Given the description of an element on the screen output the (x, y) to click on. 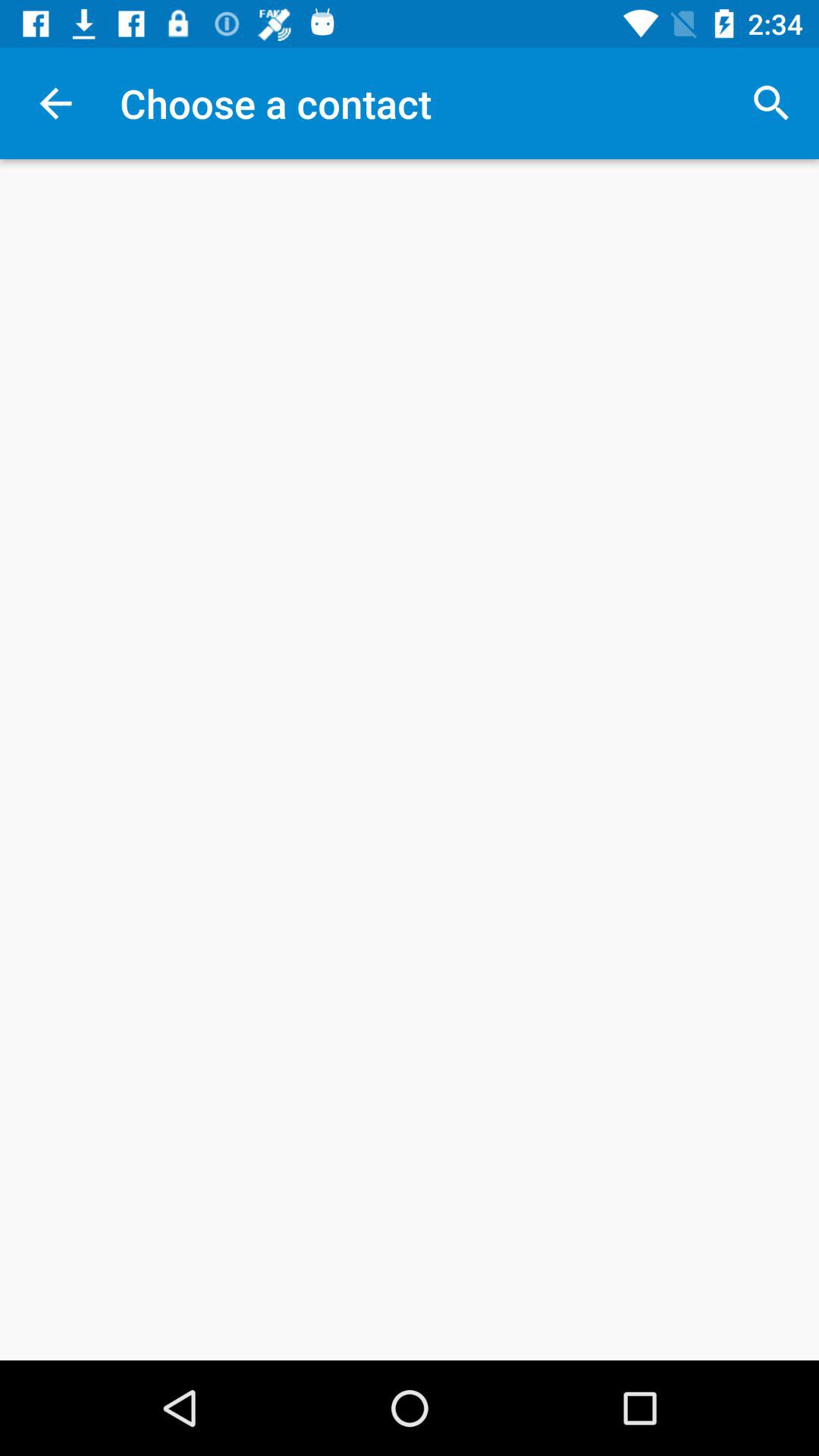
tap icon at the top right corner (771, 103)
